Given the description of an element on the screen output the (x, y) to click on. 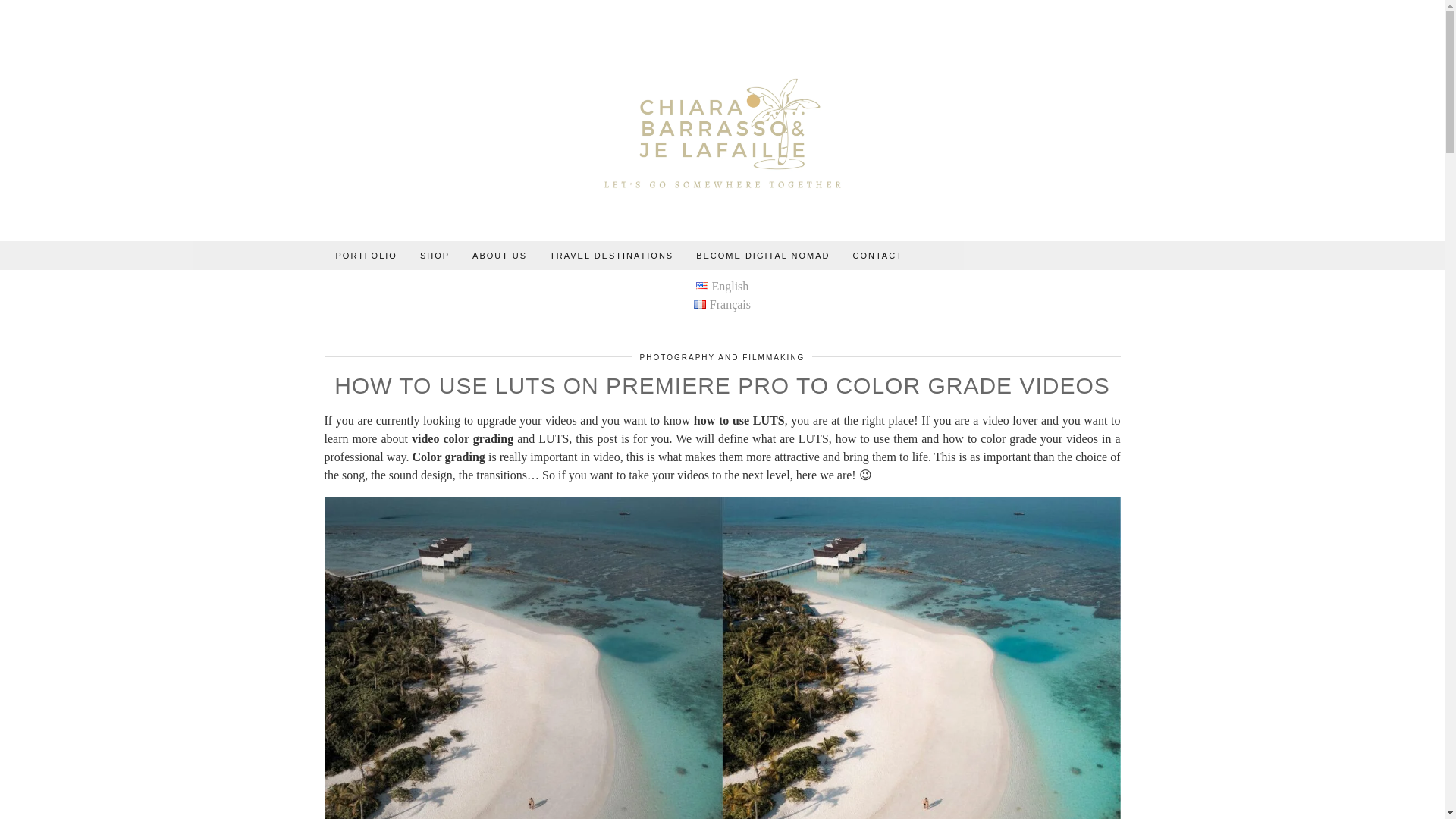
TRAVEL DESTINATIONS (611, 255)
PORTFOLIO (366, 255)
SHOP (435, 255)
BECOME DIGITAL NOMAD (762, 255)
ABOUT US (499, 255)
CONTACT (877, 255)
